Given the description of an element on the screen output the (x, y) to click on. 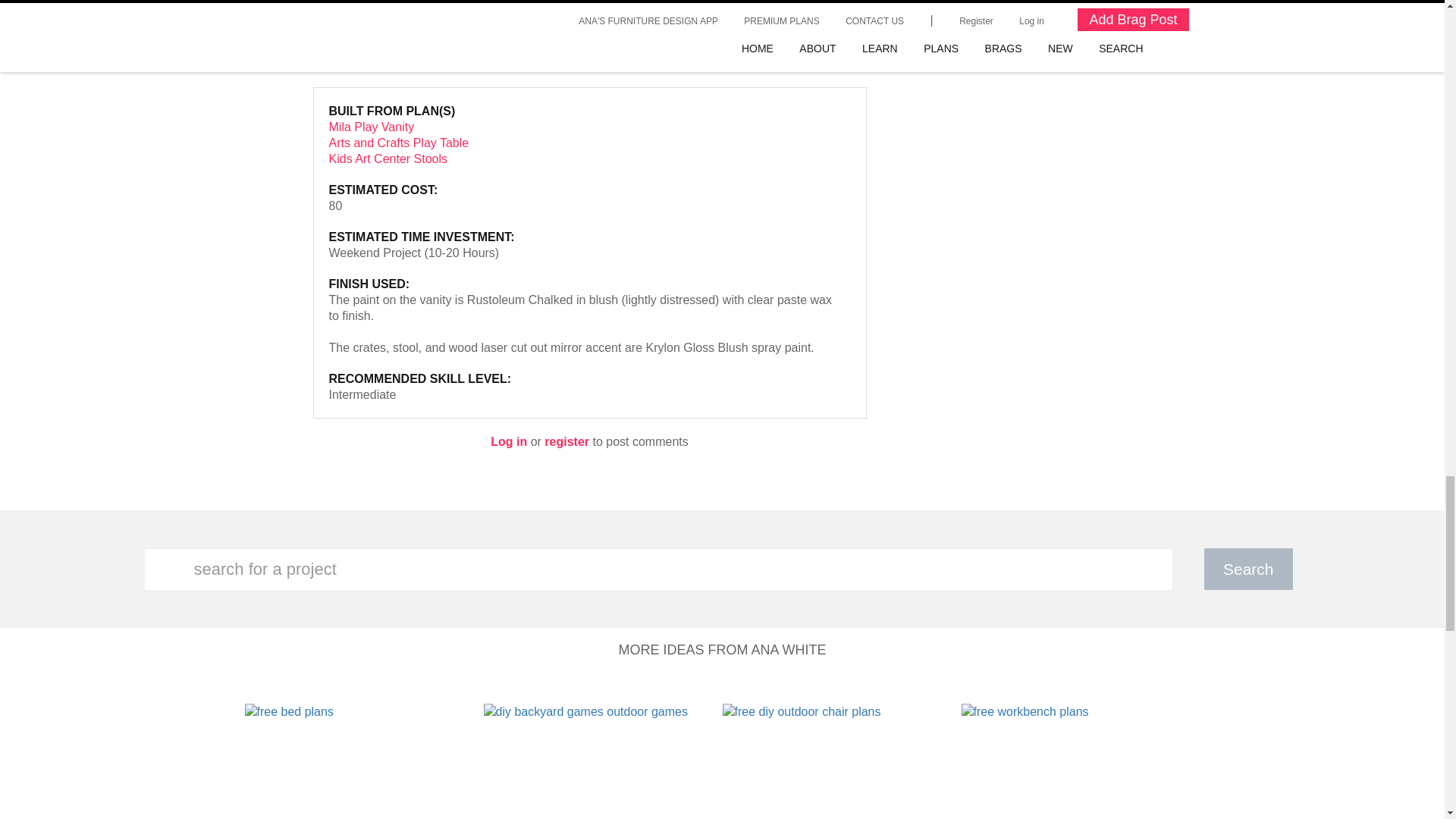
register (566, 440)
Log in (508, 440)
Kids Art Center Stools (388, 158)
Mila Play Vanity (371, 126)
Arts and Crafts Play Table (398, 142)
White House Wood Shop (380, 63)
